Given the description of an element on the screen output the (x, y) to click on. 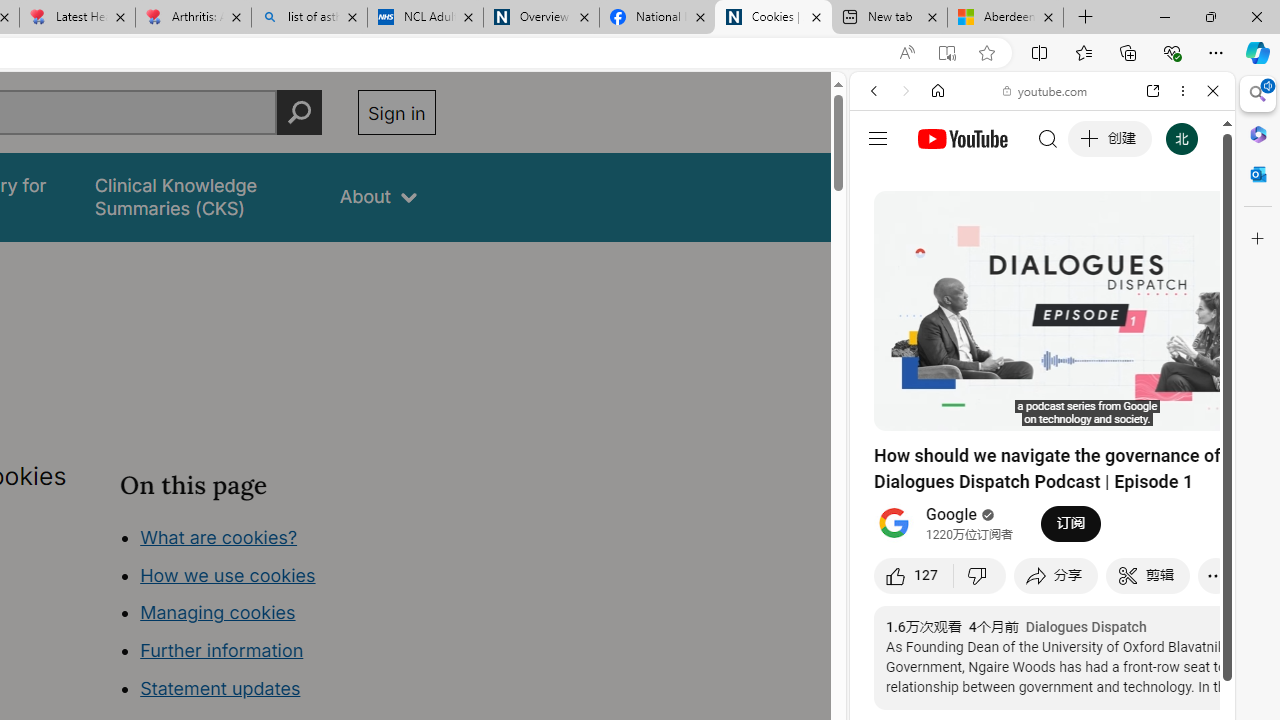
false (198, 196)
